Given the description of an element on the screen output the (x, y) to click on. 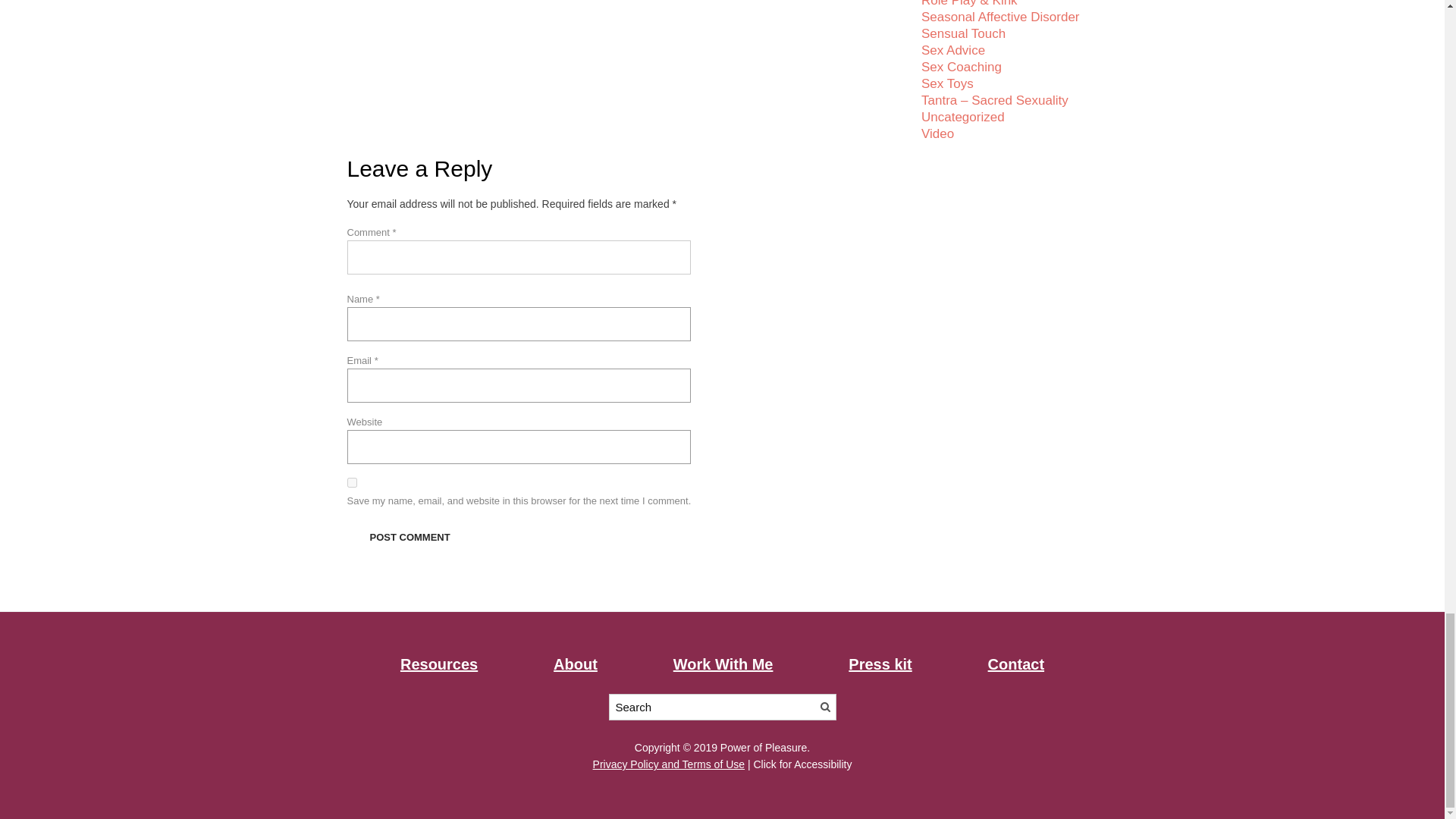
Search (823, 706)
yes (351, 482)
Post Comment (410, 537)
